Given the description of an element on the screen output the (x, y) to click on. 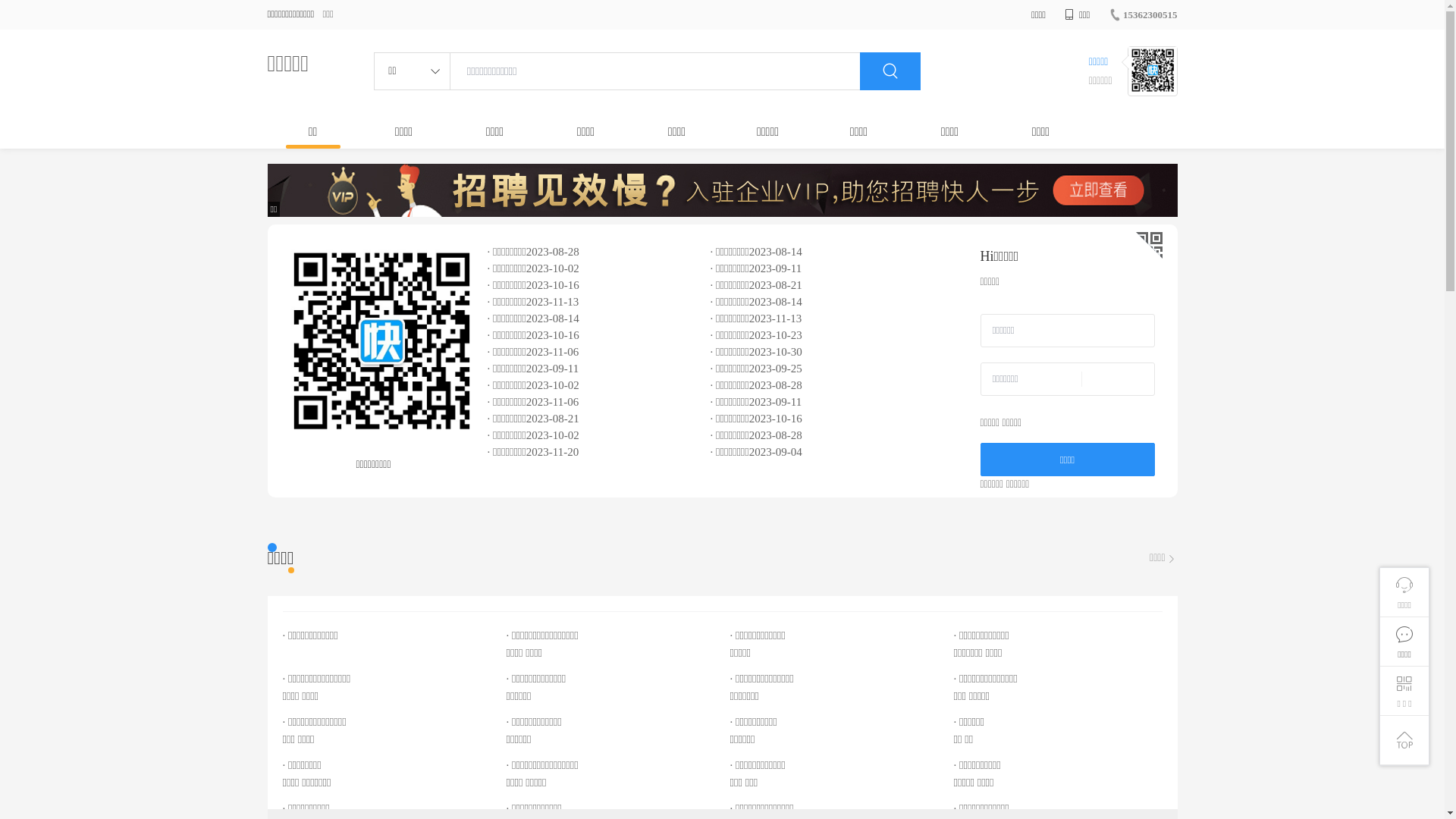
15362300515 Element type: text (1142, 14)
